Given the description of an element on the screen output the (x, y) to click on. 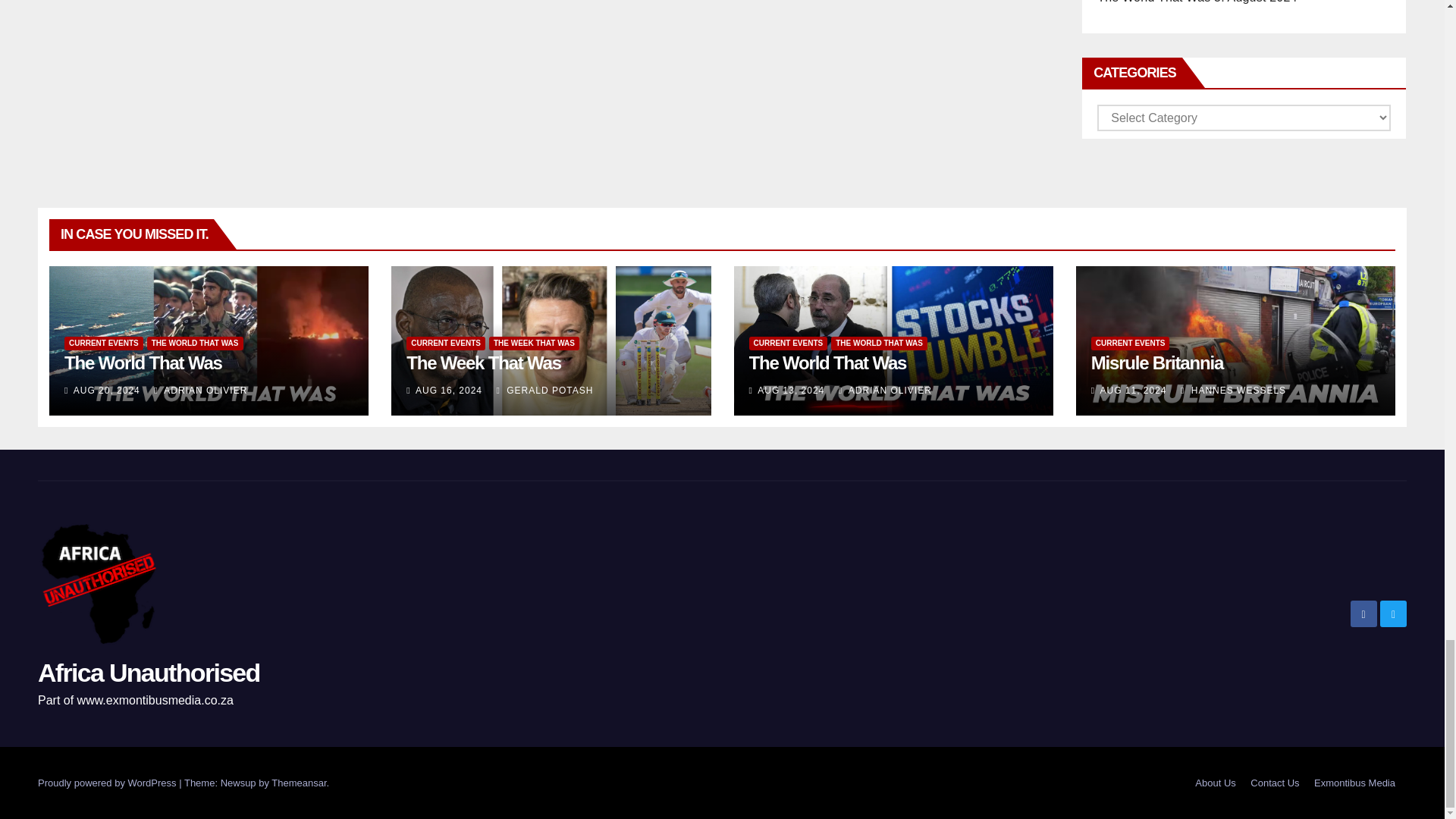
Permalink to: The World That Was (143, 362)
Permalink to: The World That Was (828, 362)
Permalink to: The Week That Was (483, 362)
Permalink to: Misrule Britannia (1156, 362)
